Given the description of an element on the screen output the (x, y) to click on. 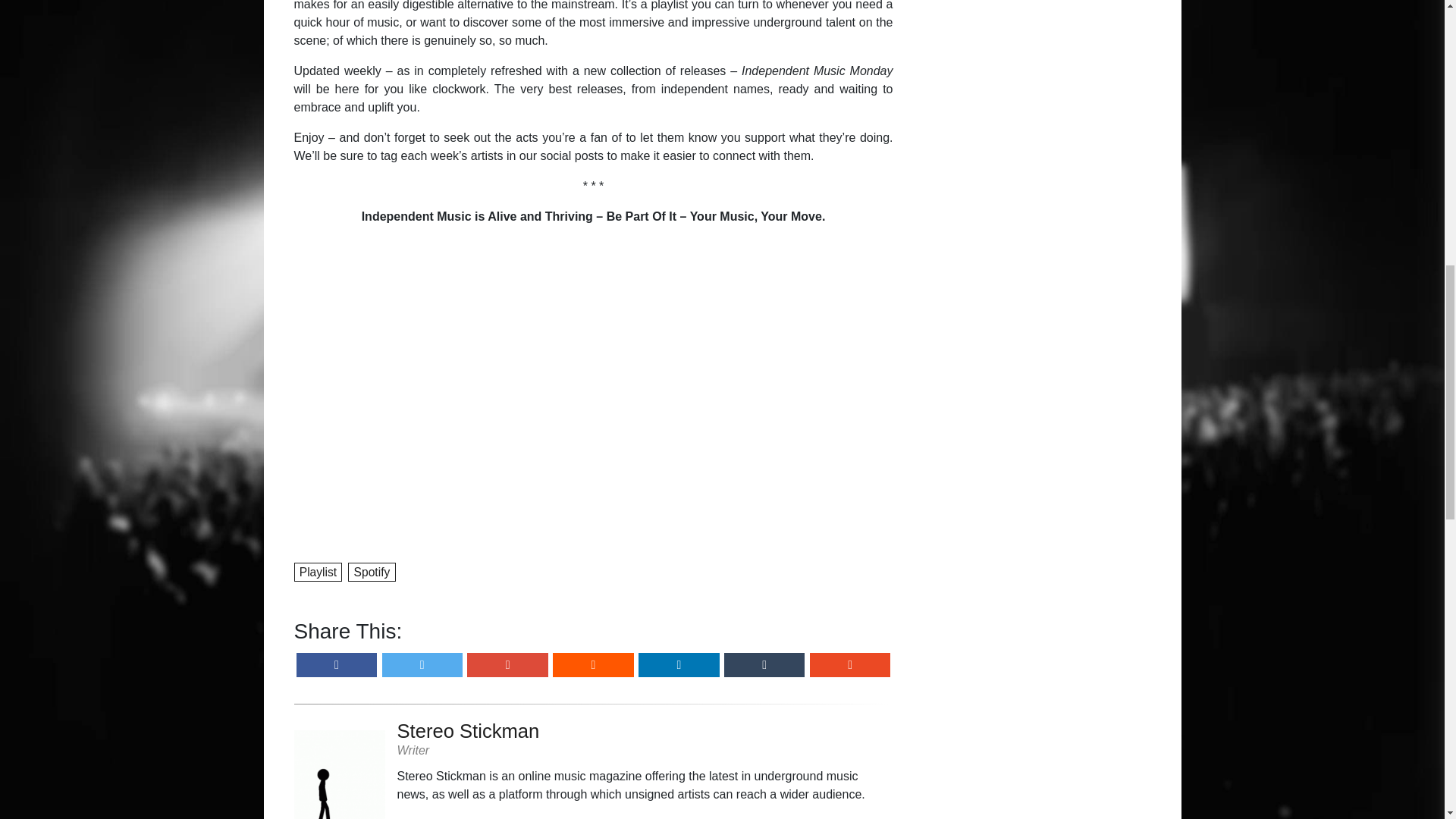
Playlist (318, 570)
Spotify (371, 570)
Stereo Stickman (645, 730)
